Given the description of an element on the screen output the (x, y) to click on. 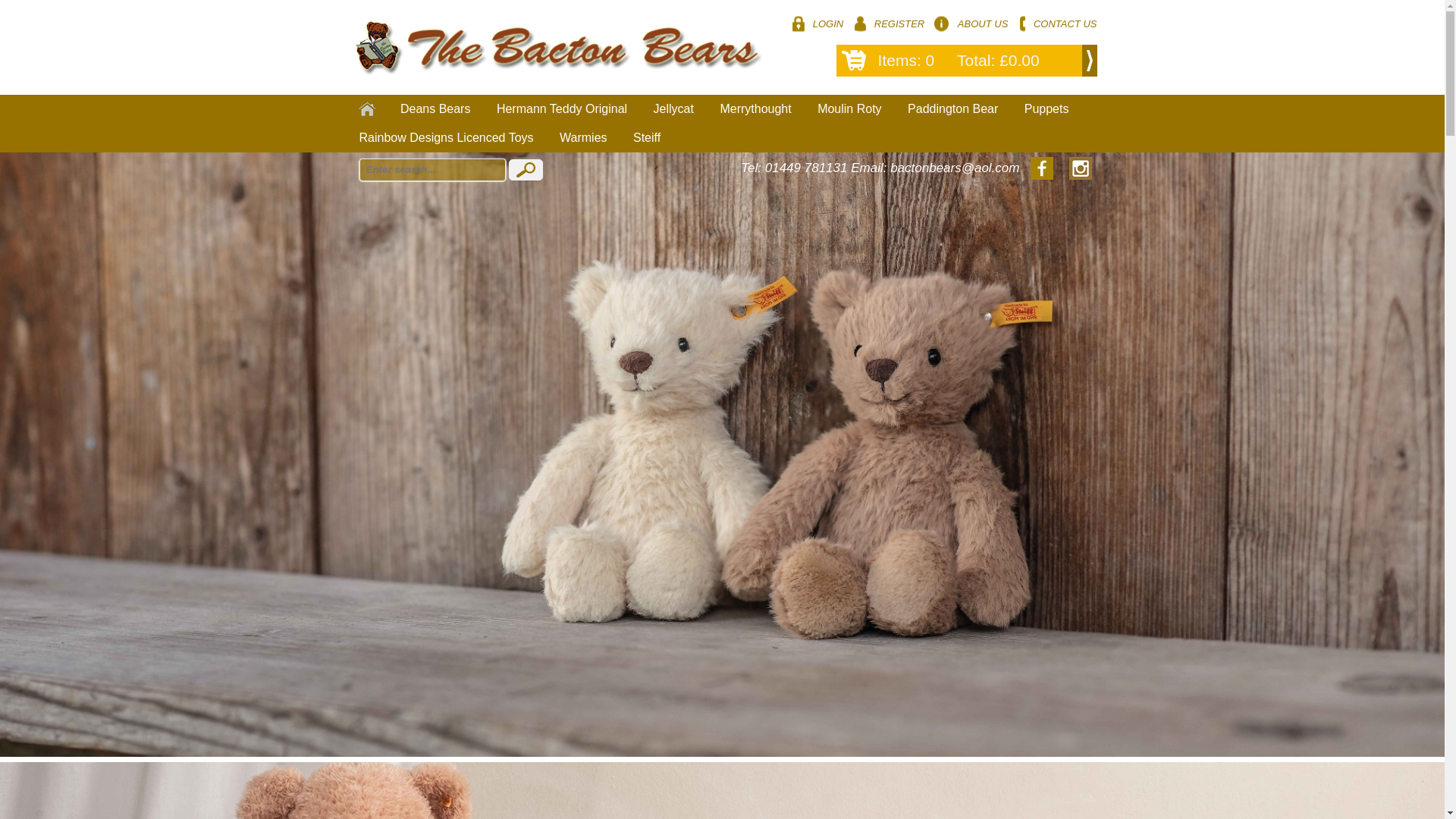
Moulin Roty (849, 109)
CONTACT US (1055, 23)
Merrythought (754, 109)
Steiff (646, 137)
Warmies (583, 137)
Puppets (1046, 109)
Deans Bears (434, 109)
REGISTER (887, 23)
Jellycat (673, 109)
Hermann Teddy Original (561, 109)
Rainbow Designs Licenced Toys (445, 137)
LOGIN (816, 23)
ABOUT US (970, 23)
Paddington Bear (952, 109)
